Given the description of an element on the screen output the (x, y) to click on. 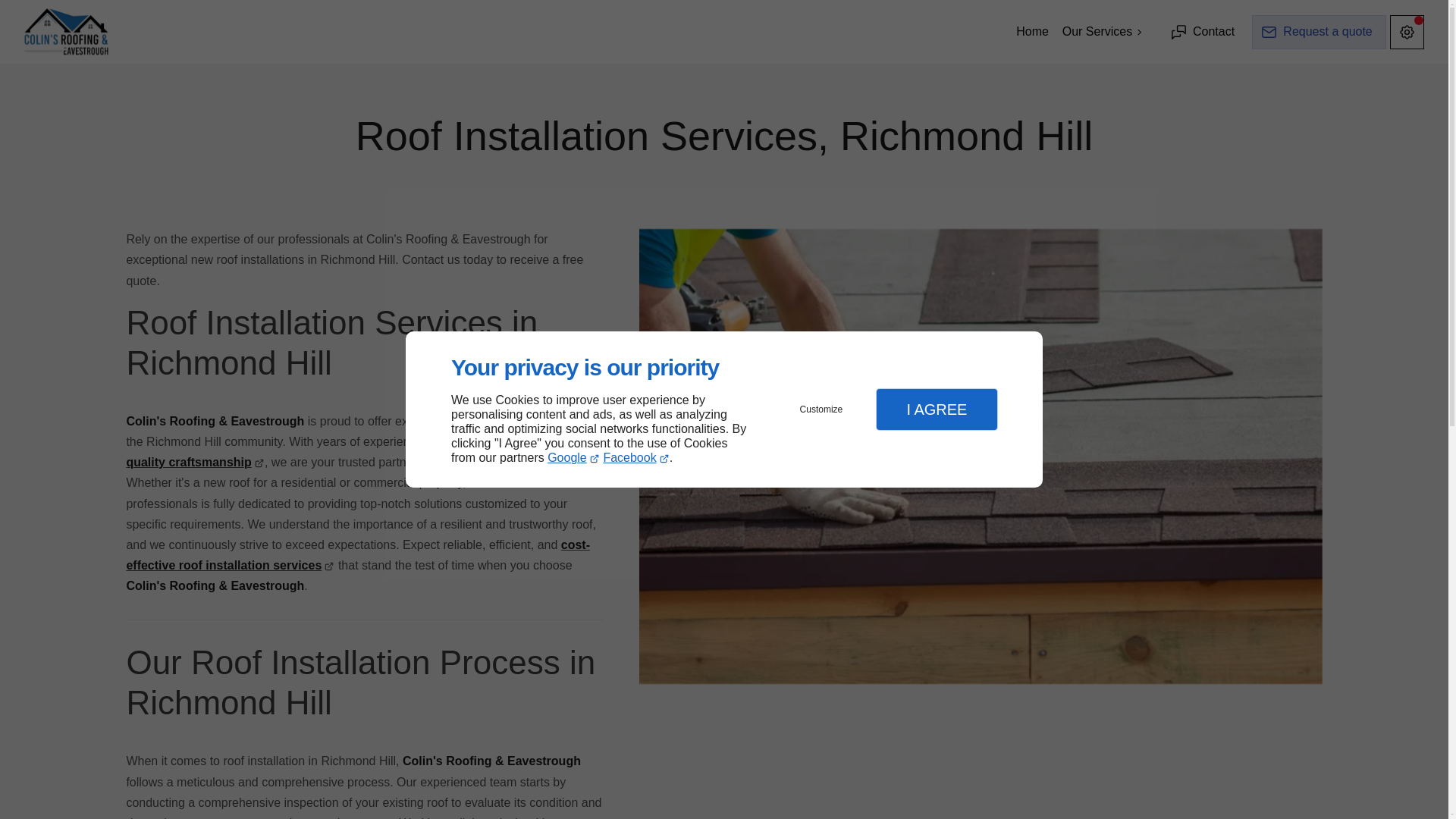
Contact (1204, 32)
a strong commitment to quality craftsmanship (356, 451)
Request a quote (1319, 32)
Facebook (635, 457)
cost-effective roof installation services (357, 554)
Google (573, 457)
Our Services (1103, 31)
